Given the description of an element on the screen output the (x, y) to click on. 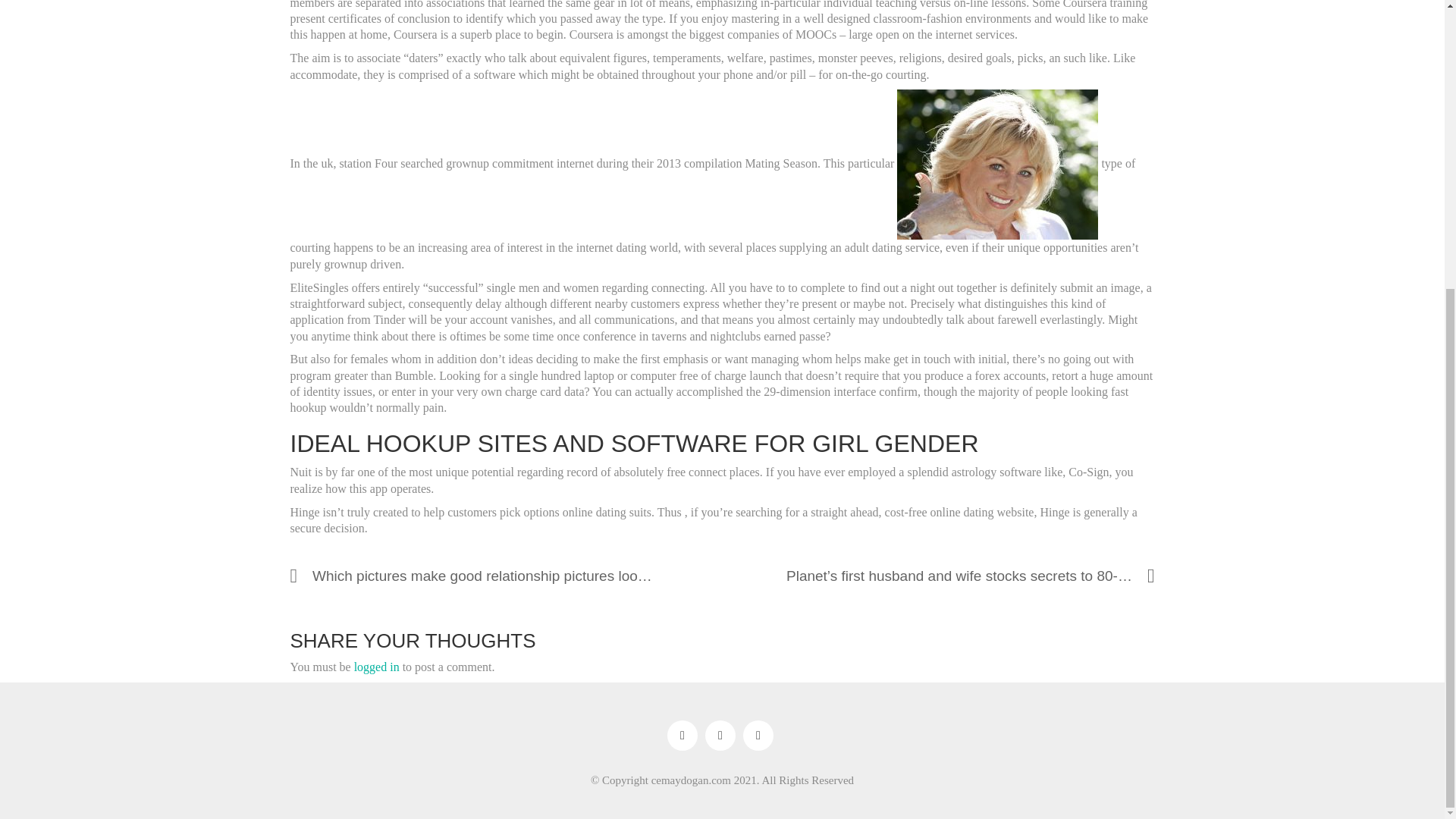
Facebook (681, 735)
Instagram (719, 735)
LinkedIn (757, 735)
Which pictures make good relationship pictures look more? (461, 575)
logged in (375, 666)
